Given the description of an element on the screen output the (x, y) to click on. 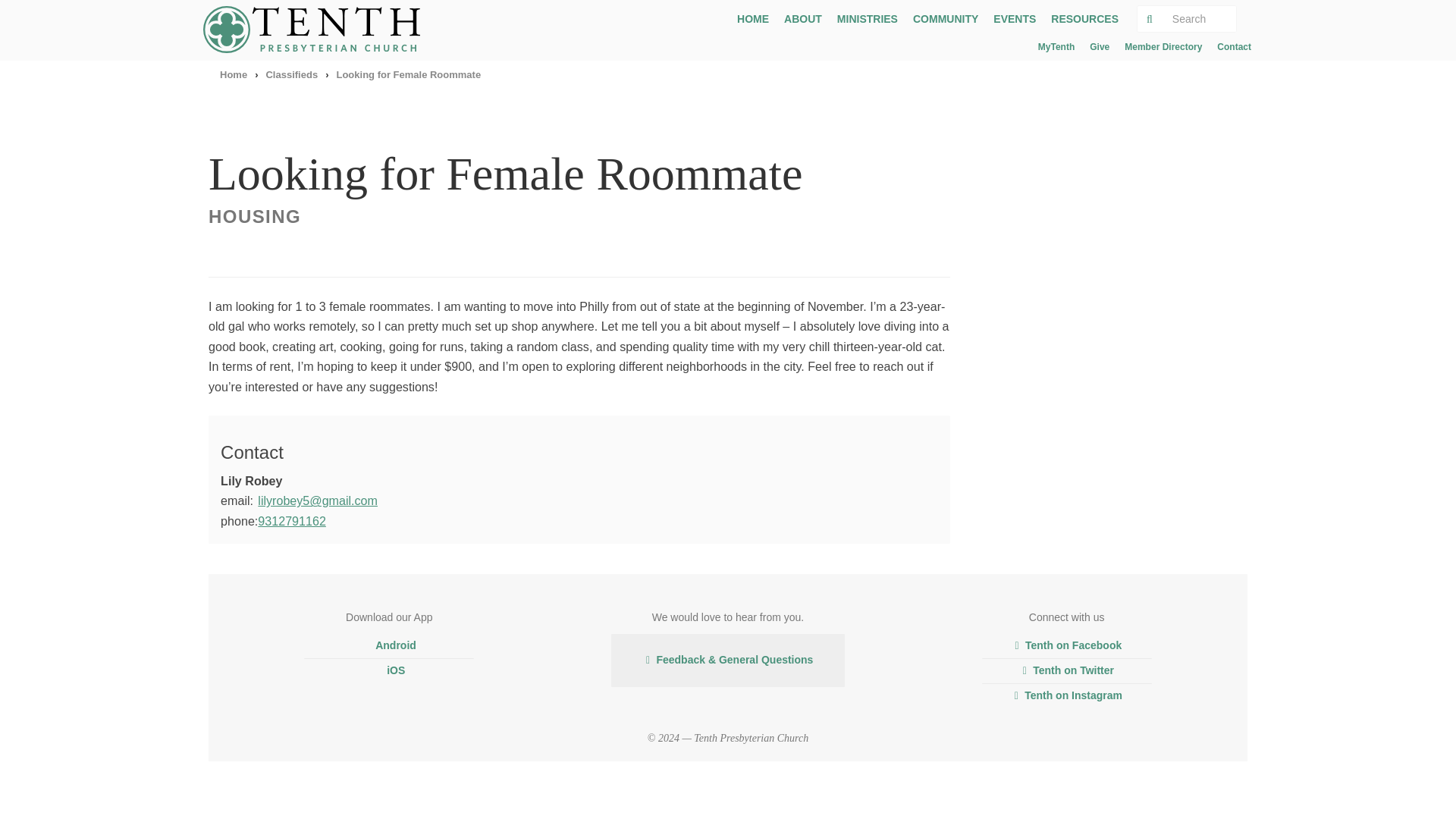
HOME (752, 18)
ABOUT (802, 18)
Looking for Female Roommate (408, 74)
Tenth Presbyterian Church (316, 29)
Home (233, 74)
Classifieds (290, 74)
MINISTRIES (867, 18)
